Given the description of an element on the screen output the (x, y) to click on. 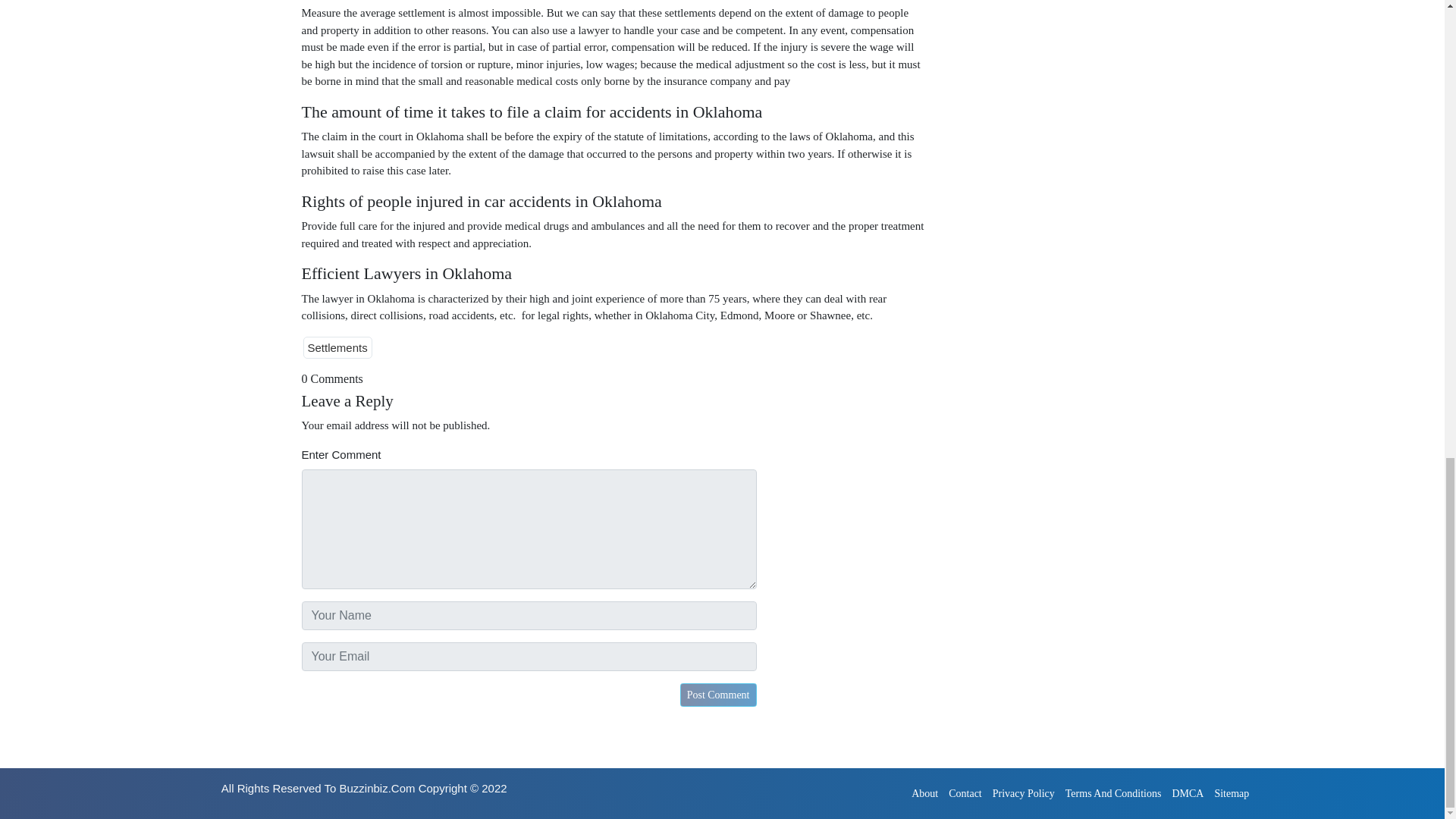
Post Comment (718, 694)
